Given the description of an element on the screen output the (x, y) to click on. 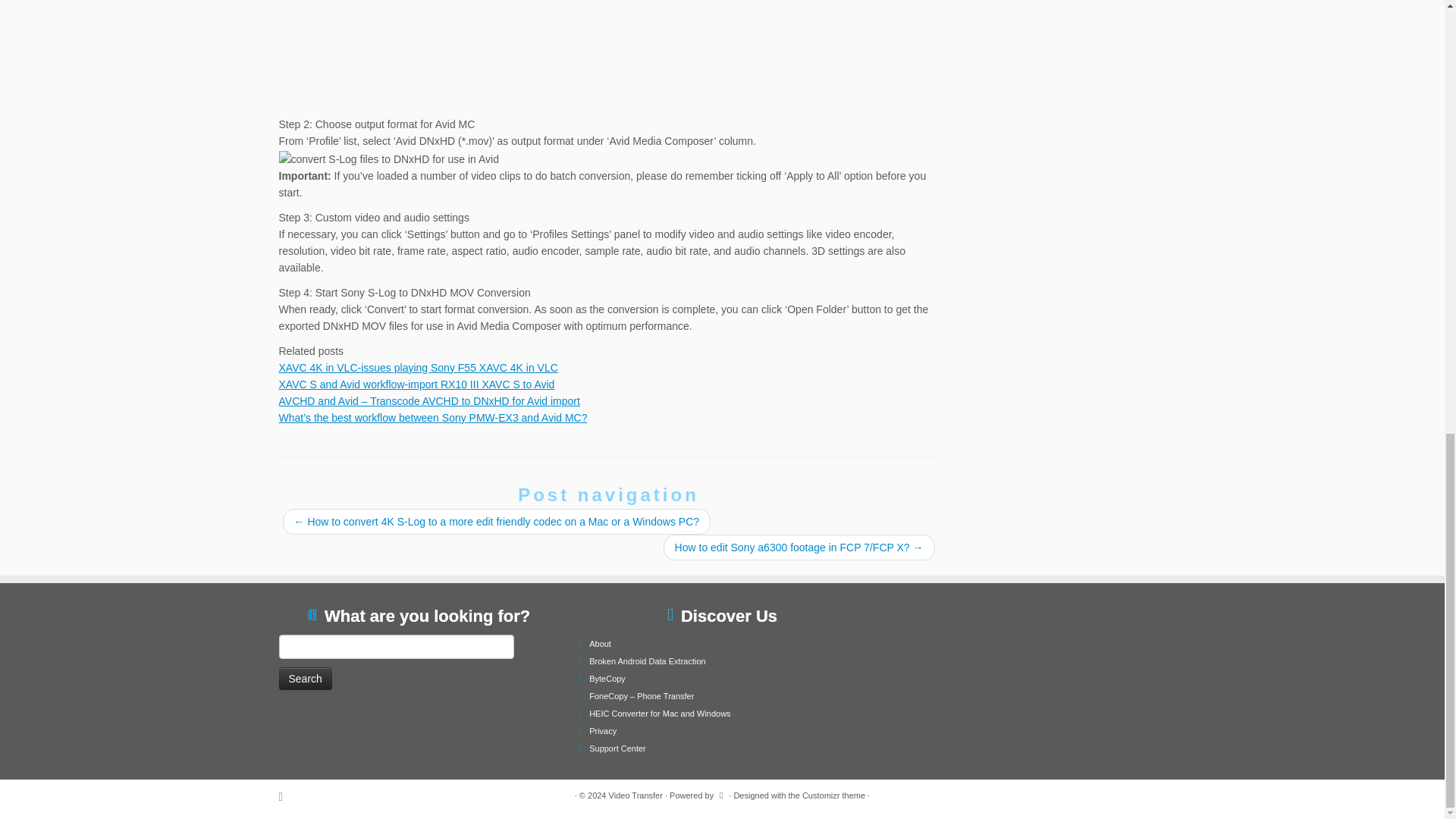
Follow us on Rss (286, 796)
XAVC 4K in VLC-issues playing Sony F55 XAVC 4K in VLC (418, 367)
Search (305, 678)
XAVC S and Avid workflow-import RX10 III XAVC S to Avid (416, 384)
Customizr theme (833, 795)
Powered by WordPress (721, 792)
Video Transfer (635, 795)
